Given the description of an element on the screen output the (x, y) to click on. 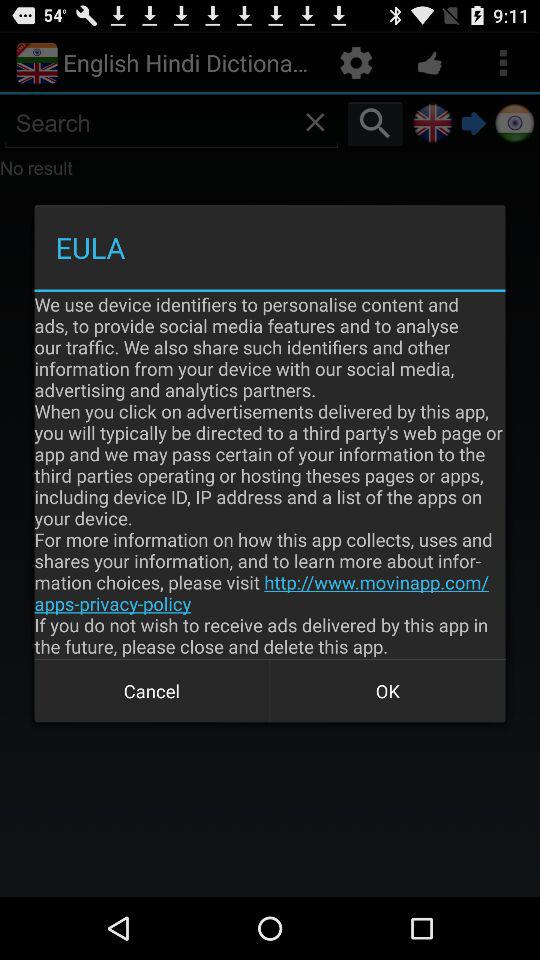
turn on cancel button (151, 690)
